Given the description of an element on the screen output the (x, y) to click on. 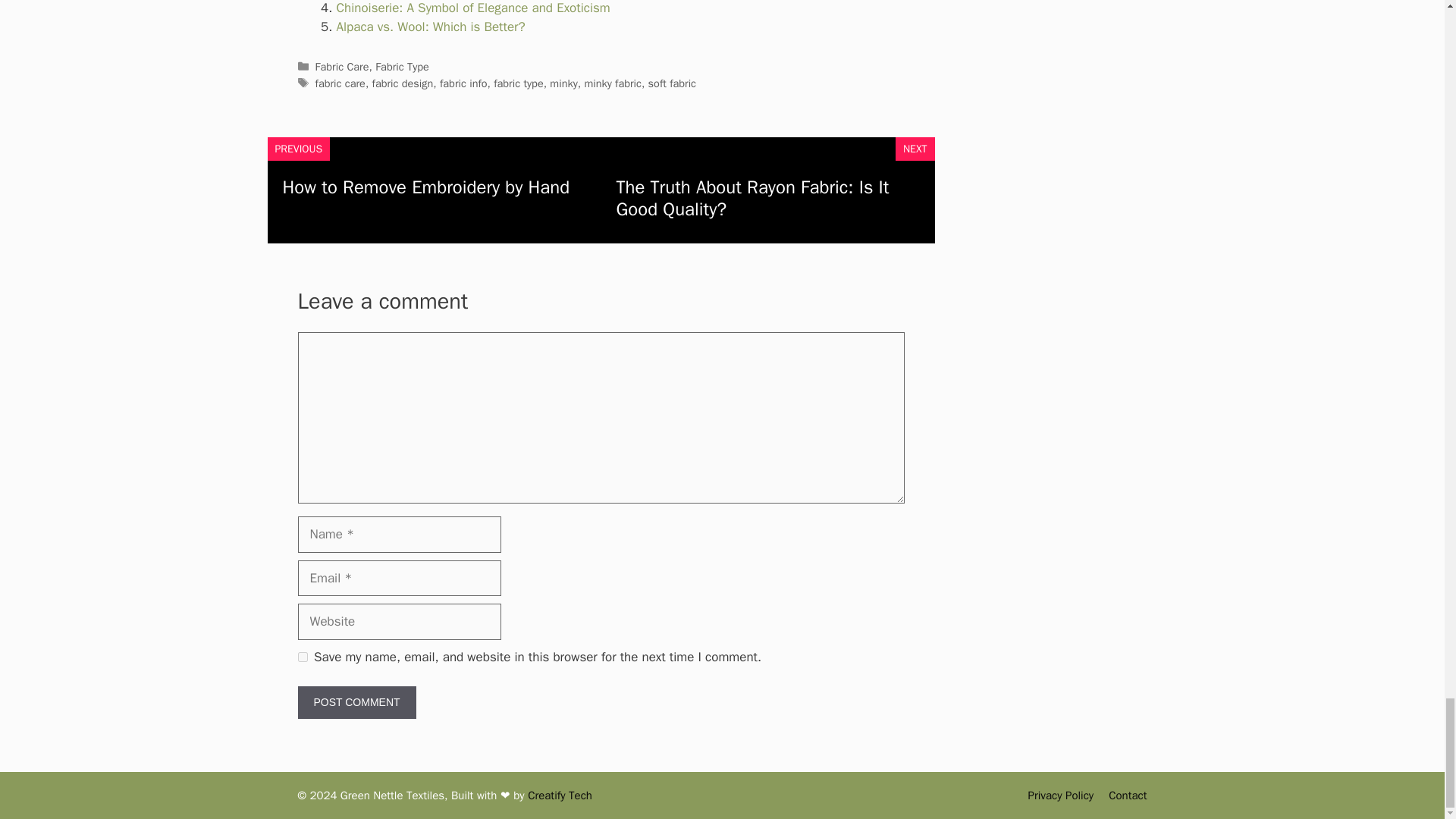
fabric design (402, 83)
Post Comment (355, 702)
Chinoiserie: A Symbol of Elegance and Exoticism (473, 7)
fabric info (463, 83)
yes (302, 656)
Fabric Care (342, 66)
Alpaca vs. Wool: Which is Better? (430, 26)
fabric care (340, 83)
Fabric Type (402, 66)
minky (563, 83)
fabric type (518, 83)
Chinoiserie: A Symbol of Elegance and Exoticism (473, 7)
Alpaca vs. Wool: Which is Better? (430, 26)
